Given the description of an element on the screen output the (x, y) to click on. 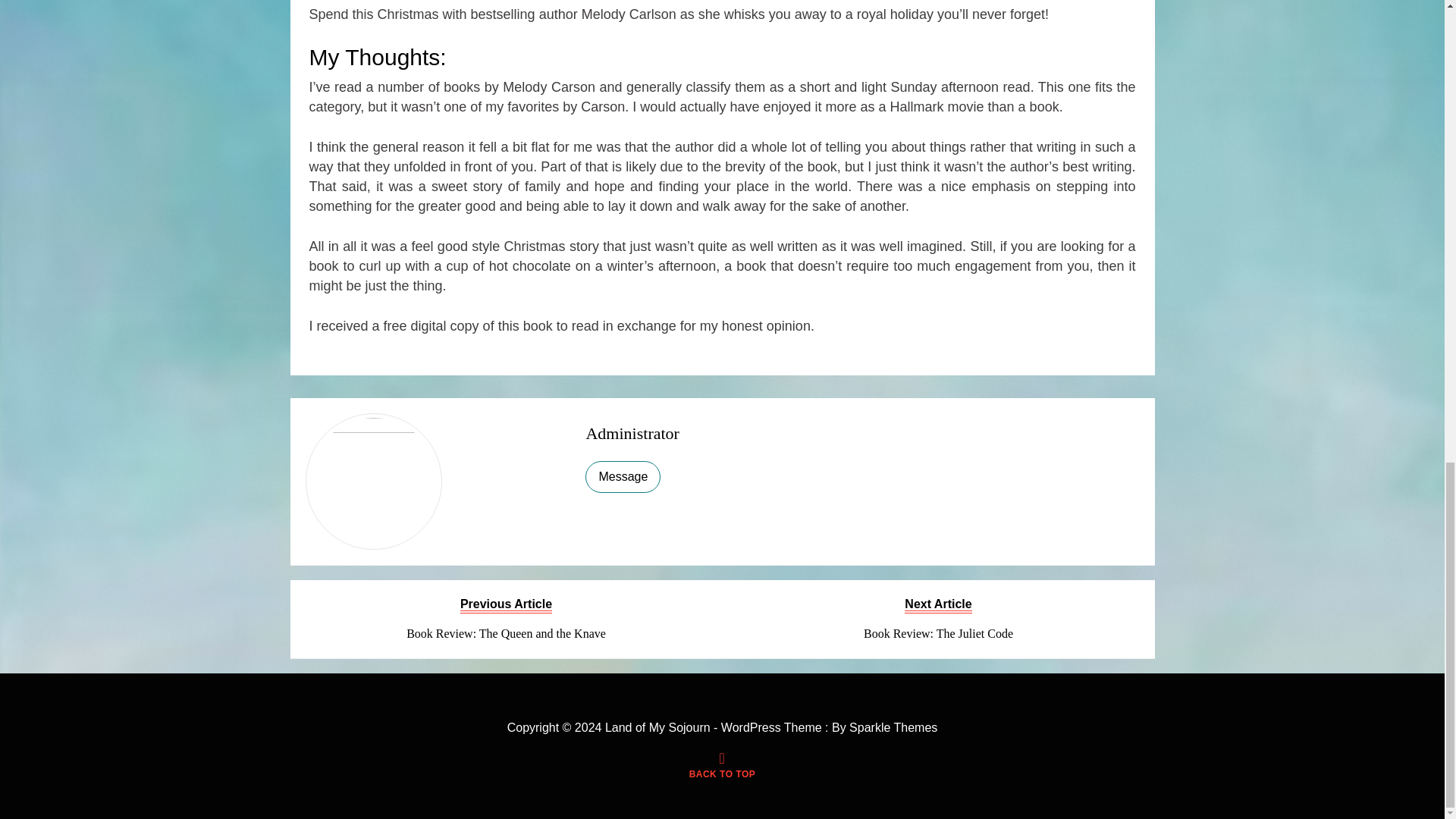
Sparkle Themes (892, 727)
Administrator (506, 618)
Posts by Administrator (631, 433)
BACK TO TOP (631, 433)
Message (937, 618)
